Given the description of an element on the screen output the (x, y) to click on. 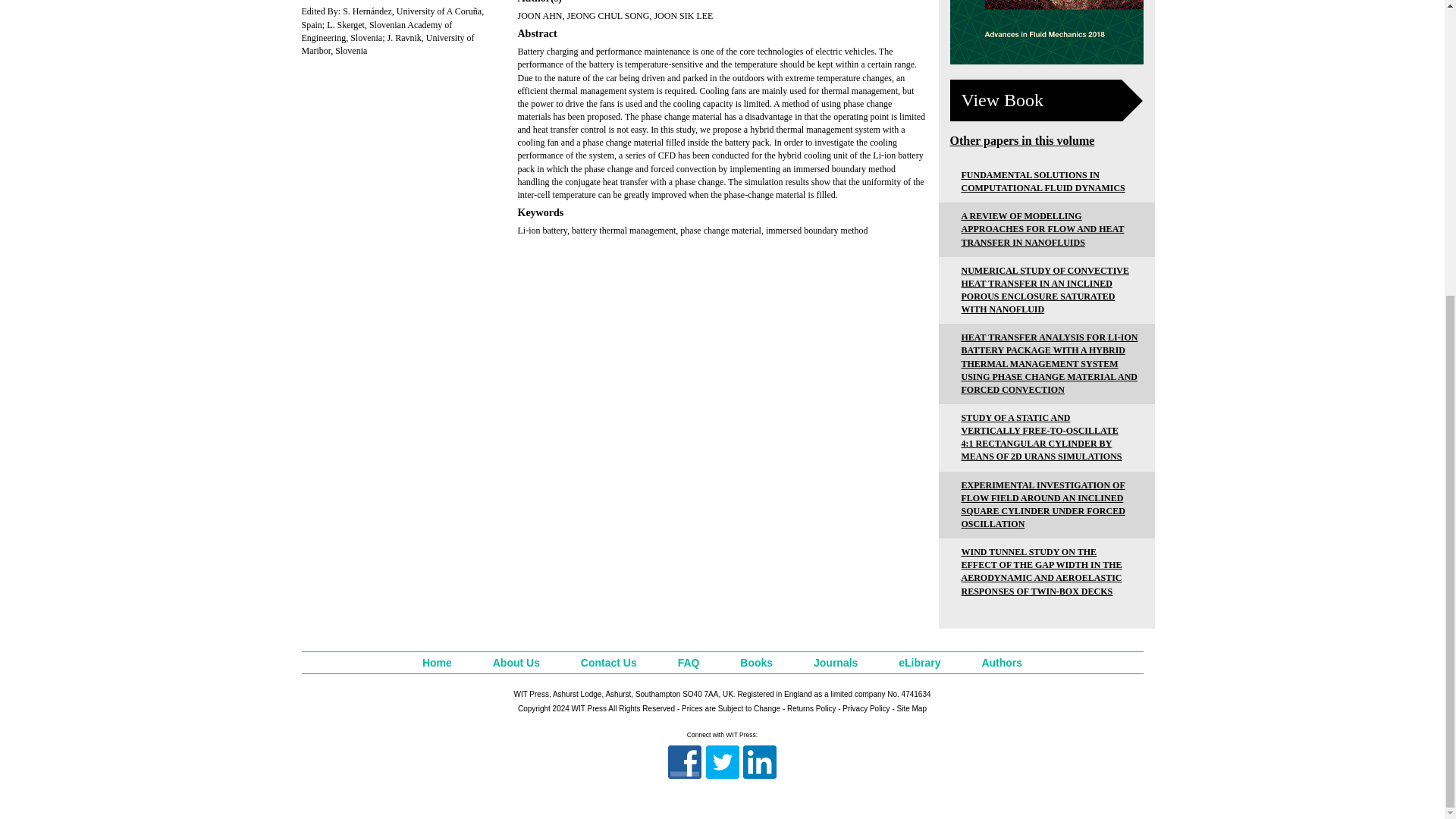
Advances in Fluid Mechanics XII (1045, 32)
